Given the description of an element on the screen output the (x, y) to click on. 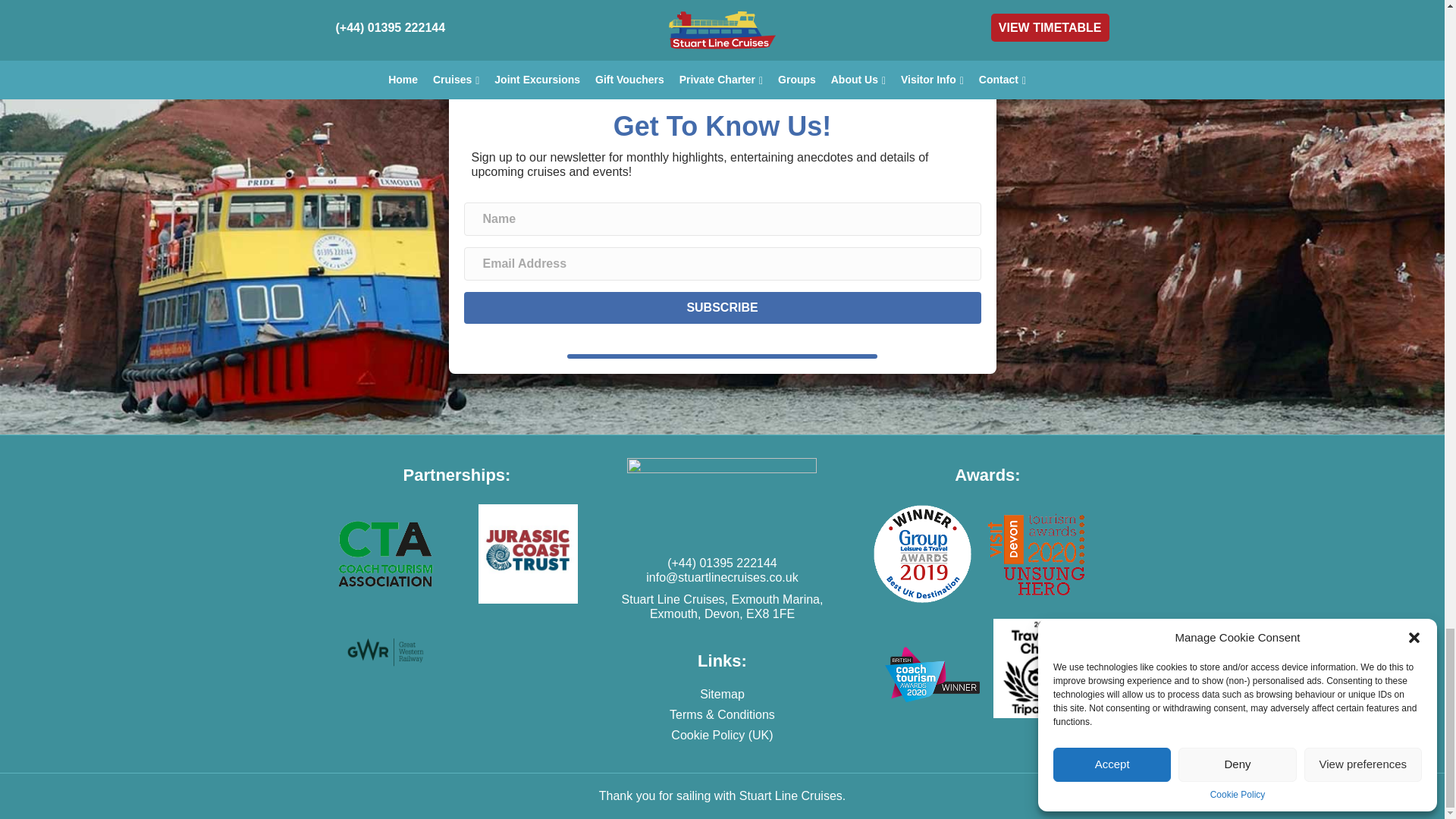
Anchor-Icon-Blue (722, 56)
